Given the description of an element on the screen output the (x, y) to click on. 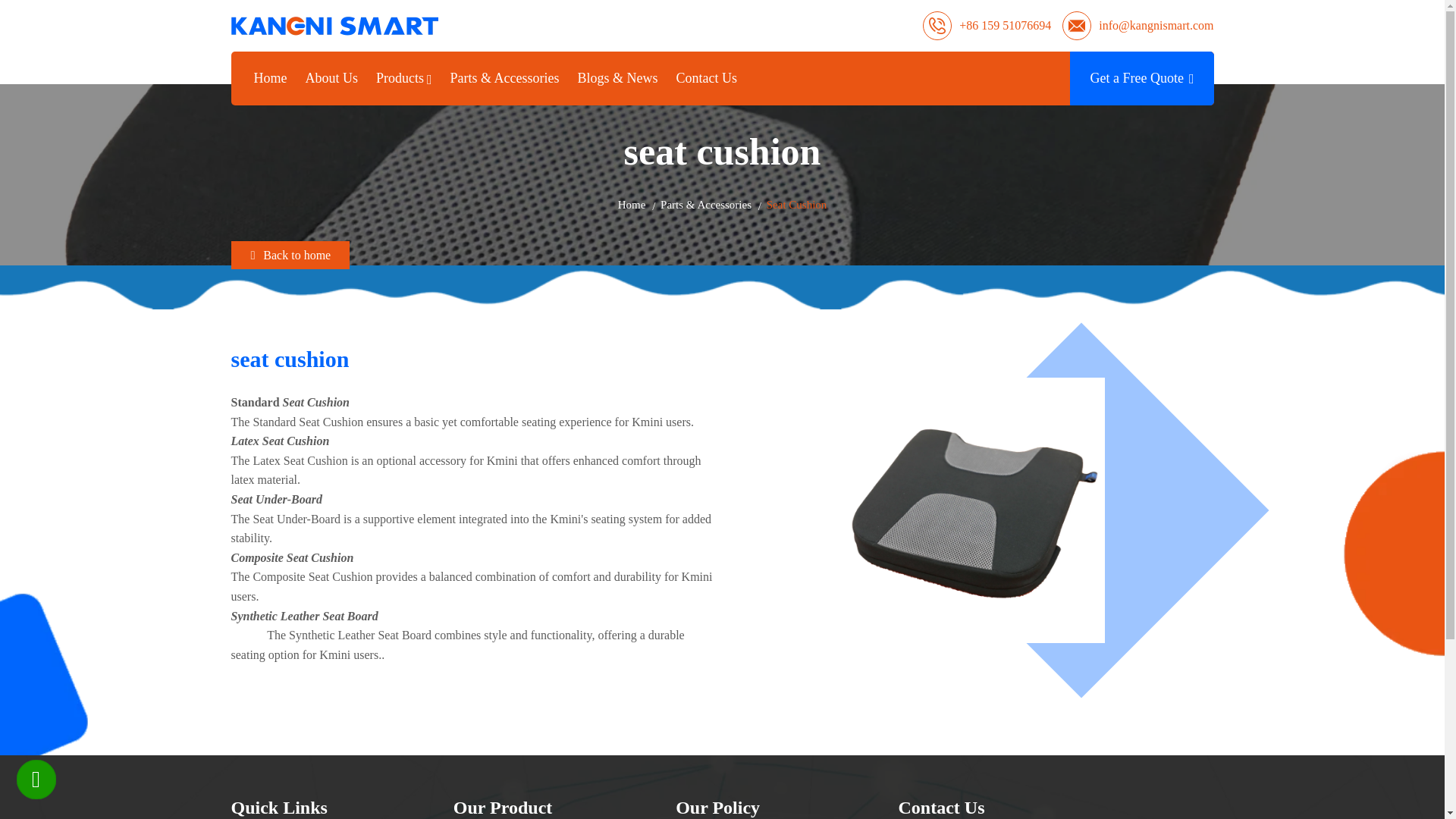
Home (269, 78)
Contact Us (707, 78)
Home (631, 204)
Get a Free Quote (1141, 78)
About Us (331, 78)
Back to home (289, 254)
Products (403, 78)
